Given the description of an element on the screen output the (x, y) to click on. 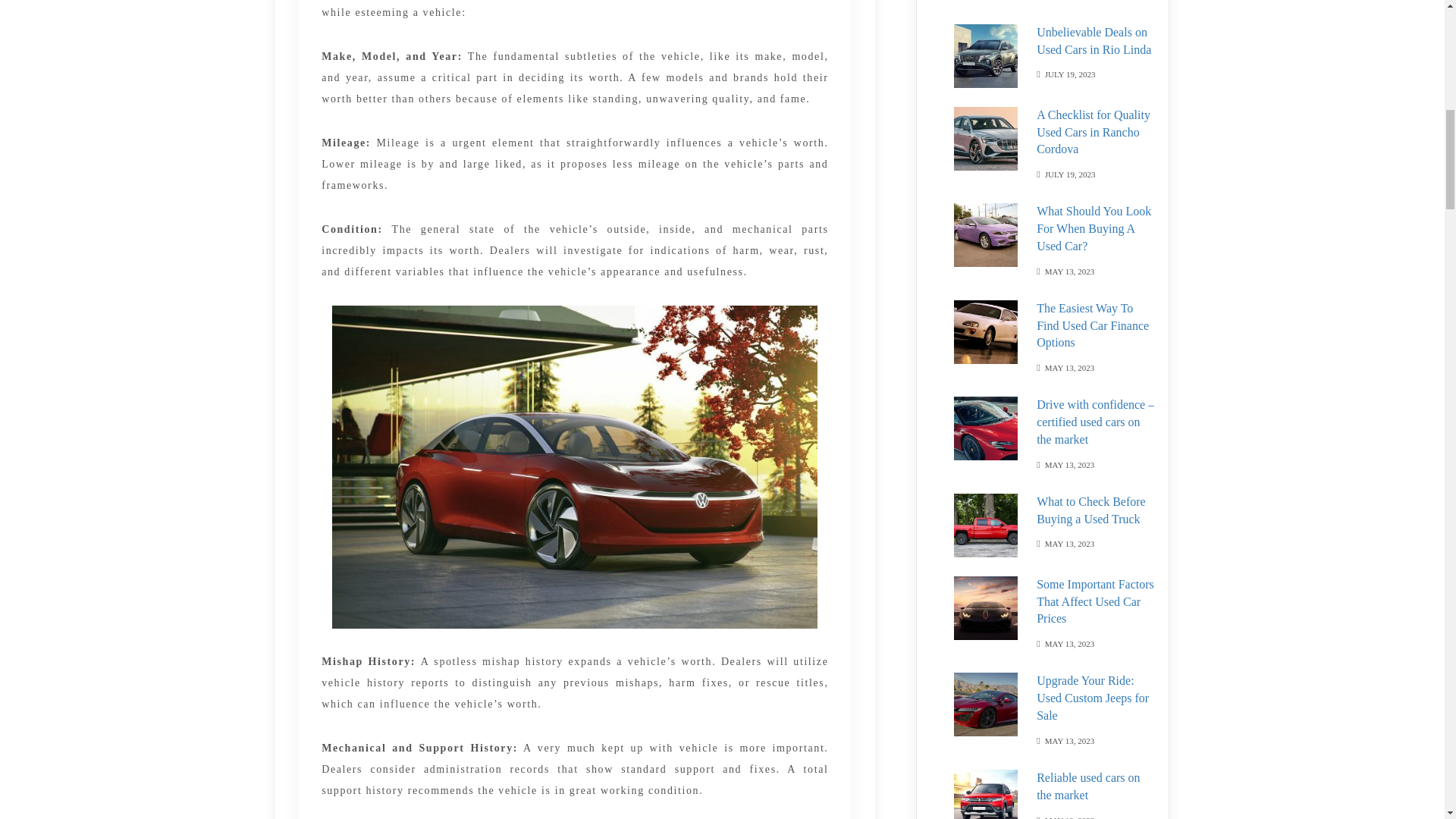
JULY 19, 2023 (987, 0)
